Given the description of an element on the screen output the (x, y) to click on. 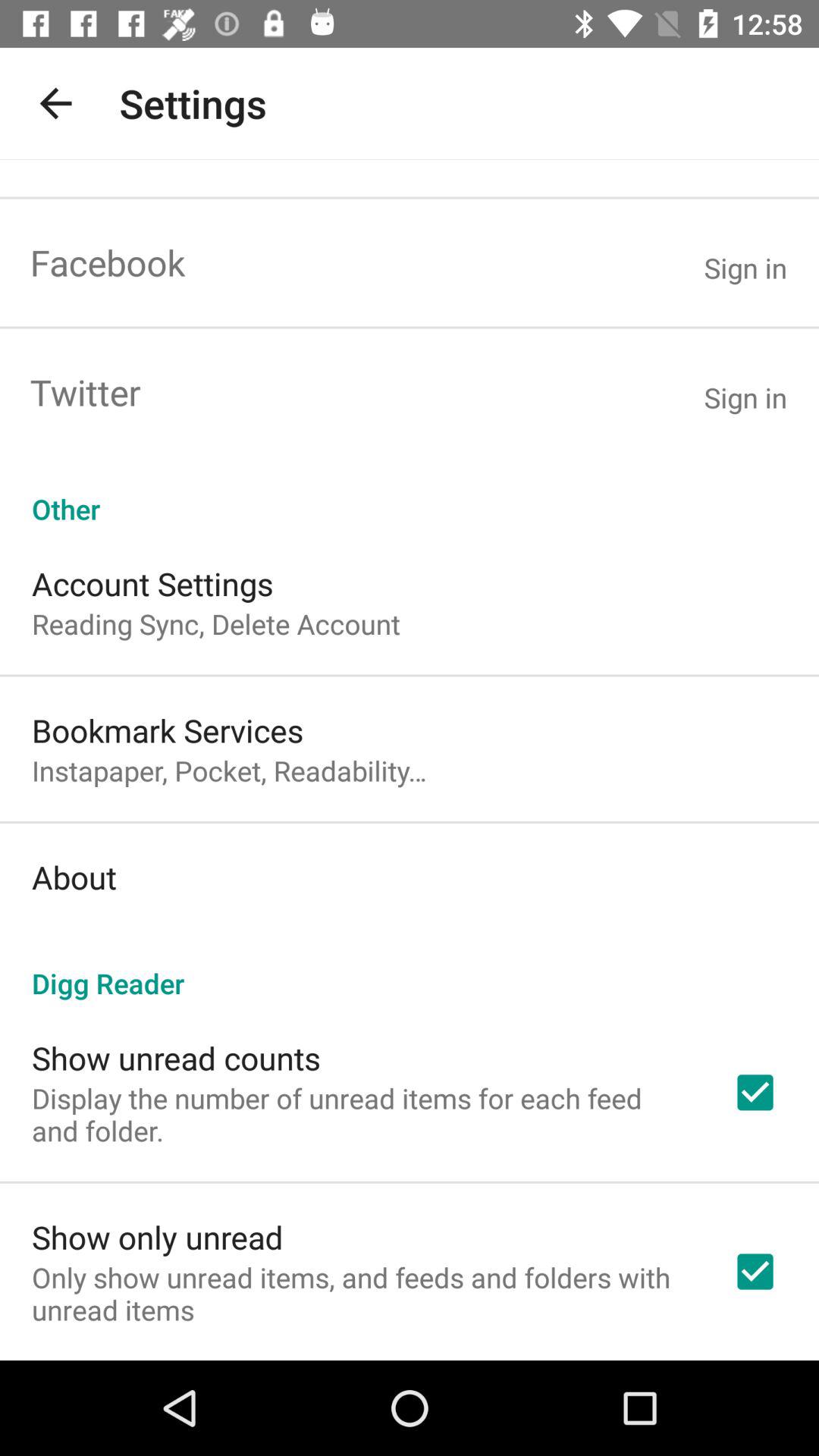
tap the item above the facebook app (55, 103)
